Given the description of an element on the screen output the (x, y) to click on. 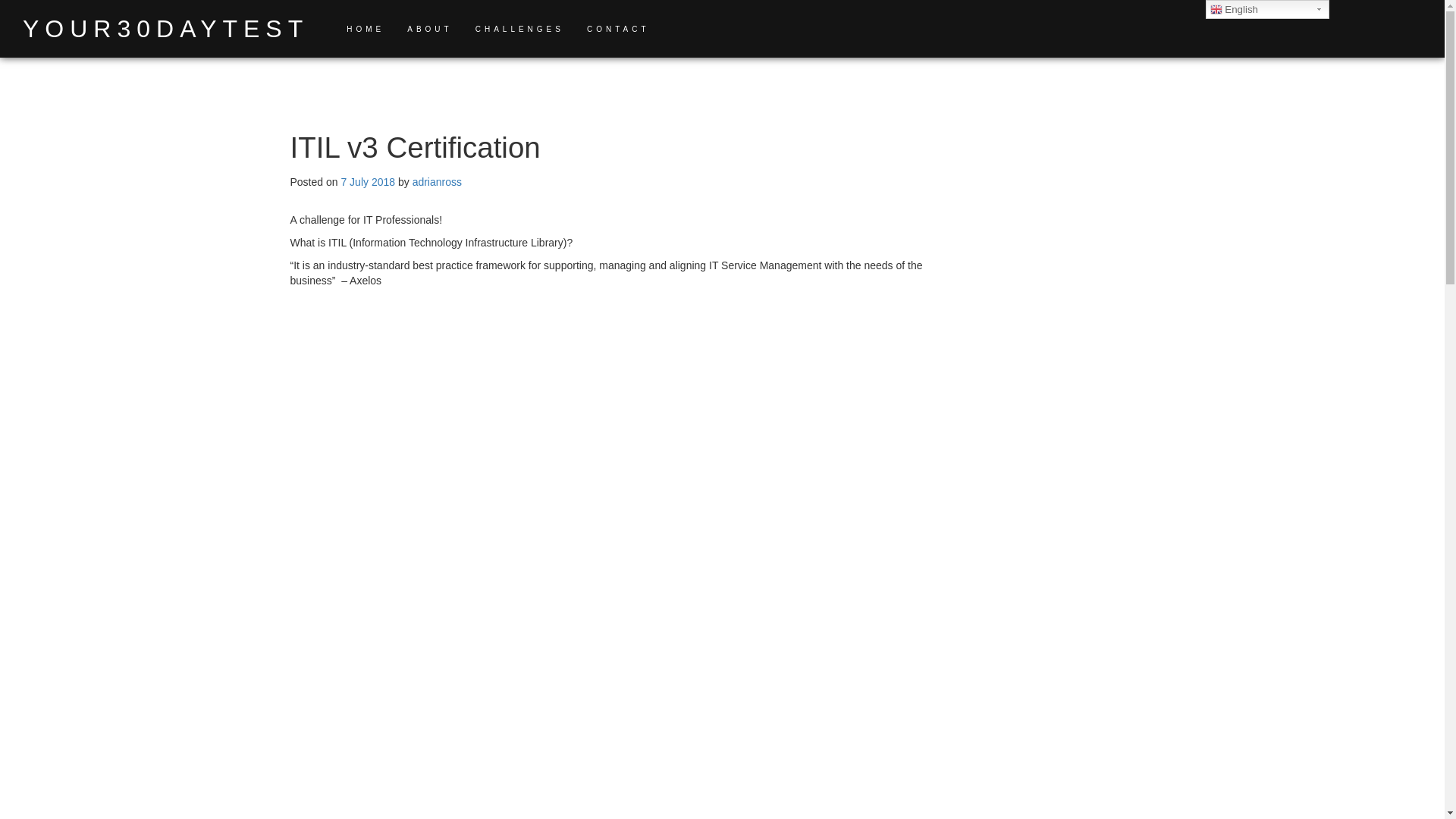
CONTACT (617, 29)
ITIL - A Simple Explanation (531, 813)
CHALLENGES (520, 29)
HOME (365, 29)
ABOUT (429, 29)
adrianross (436, 182)
7 July 2018 (367, 182)
YOUR30DAYTEST (165, 28)
